Given the description of an element on the screen output the (x, y) to click on. 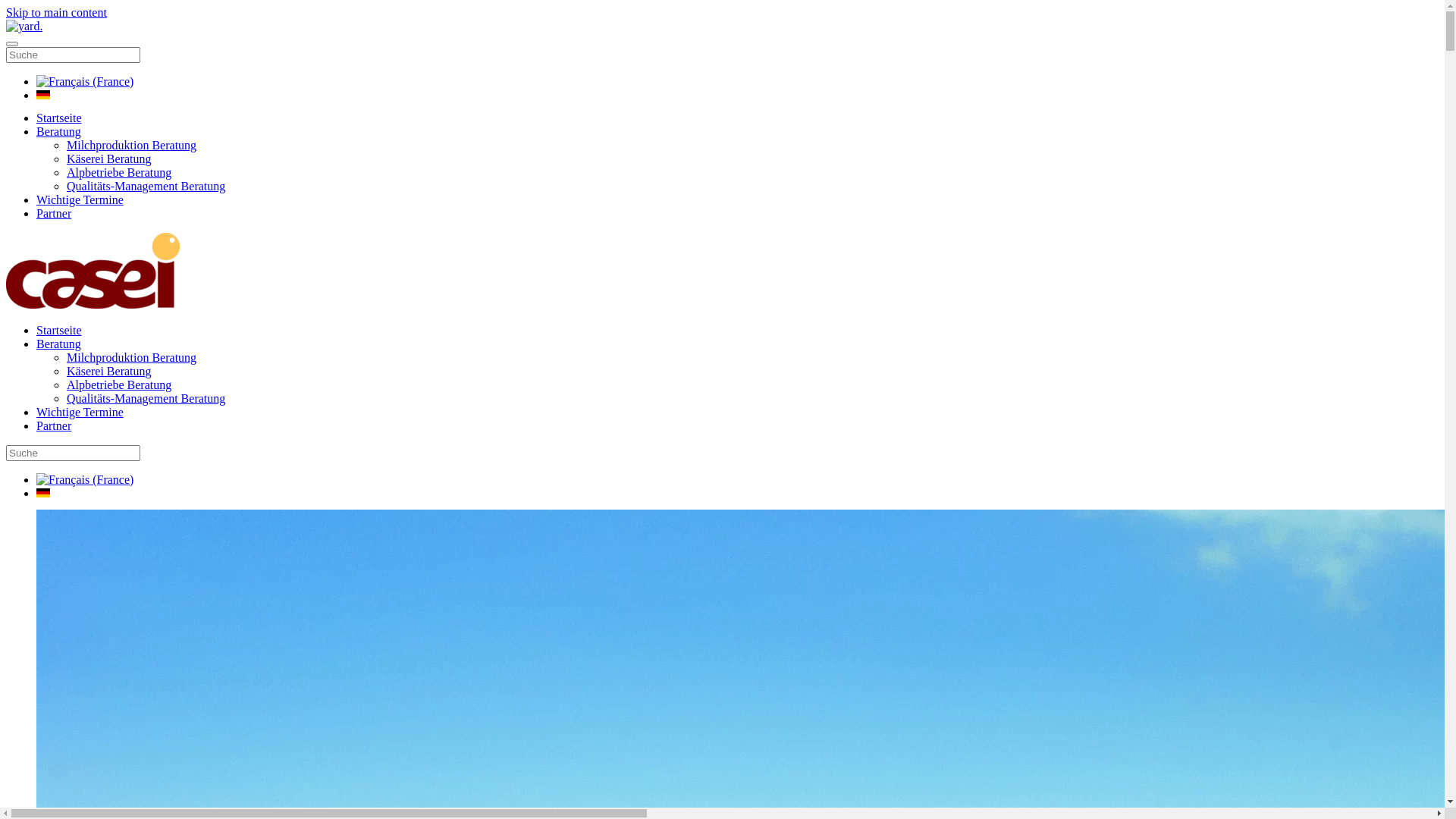
Deutsch (Deutschland) Element type: hover (43, 94)
Wichtige Termine Element type: text (79, 199)
Milchproduktion Beratung Element type: text (131, 144)
Startseite Element type: text (58, 329)
Milchproduktion Beratung Element type: text (131, 357)
Wichtige Termine Element type: text (79, 411)
Partner Element type: text (53, 425)
Alpbetriebe Beratung Element type: text (118, 384)
Partner Element type: text (53, 213)
Beratung Element type: text (58, 343)
Deutsch (Deutschland) Element type: hover (43, 492)
Beratung Element type: text (58, 131)
Alpbetriebe Beratung Element type: text (118, 172)
Skip to main content Element type: text (56, 12)
Startseite Element type: text (58, 117)
